Given the description of an element on the screen output the (x, y) to click on. 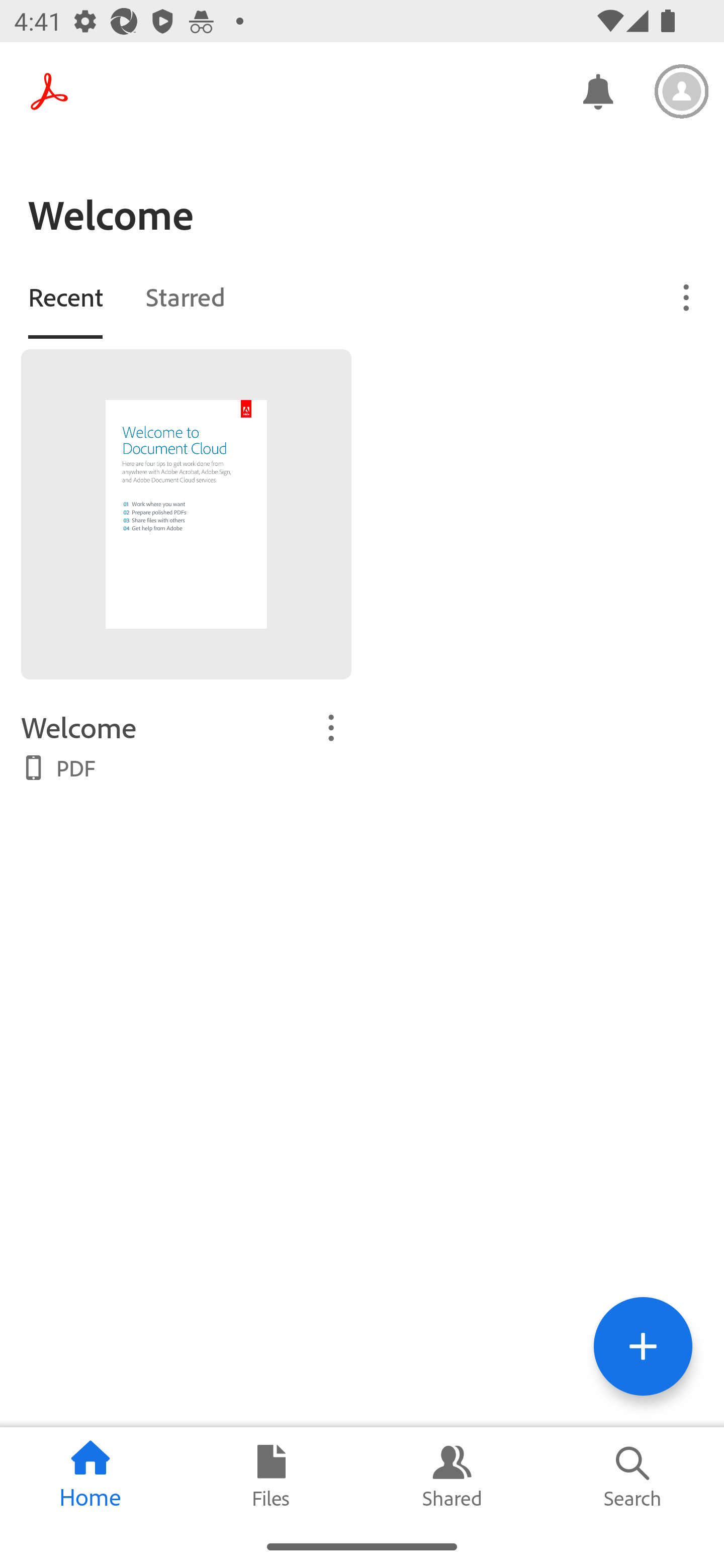
Notifications (597, 90)
Settings (681, 91)
Recent (65, 296)
Starred (185, 296)
Overflow (687, 296)
Welcome.pdf (185, 513)
Welcome Stored On This Device PDF Overflow (185, 744)
Tools (642, 1345)
Home (90, 1475)
Files (271, 1475)
Shared (452, 1475)
Search (633, 1475)
